Given the description of an element on the screen output the (x, y) to click on. 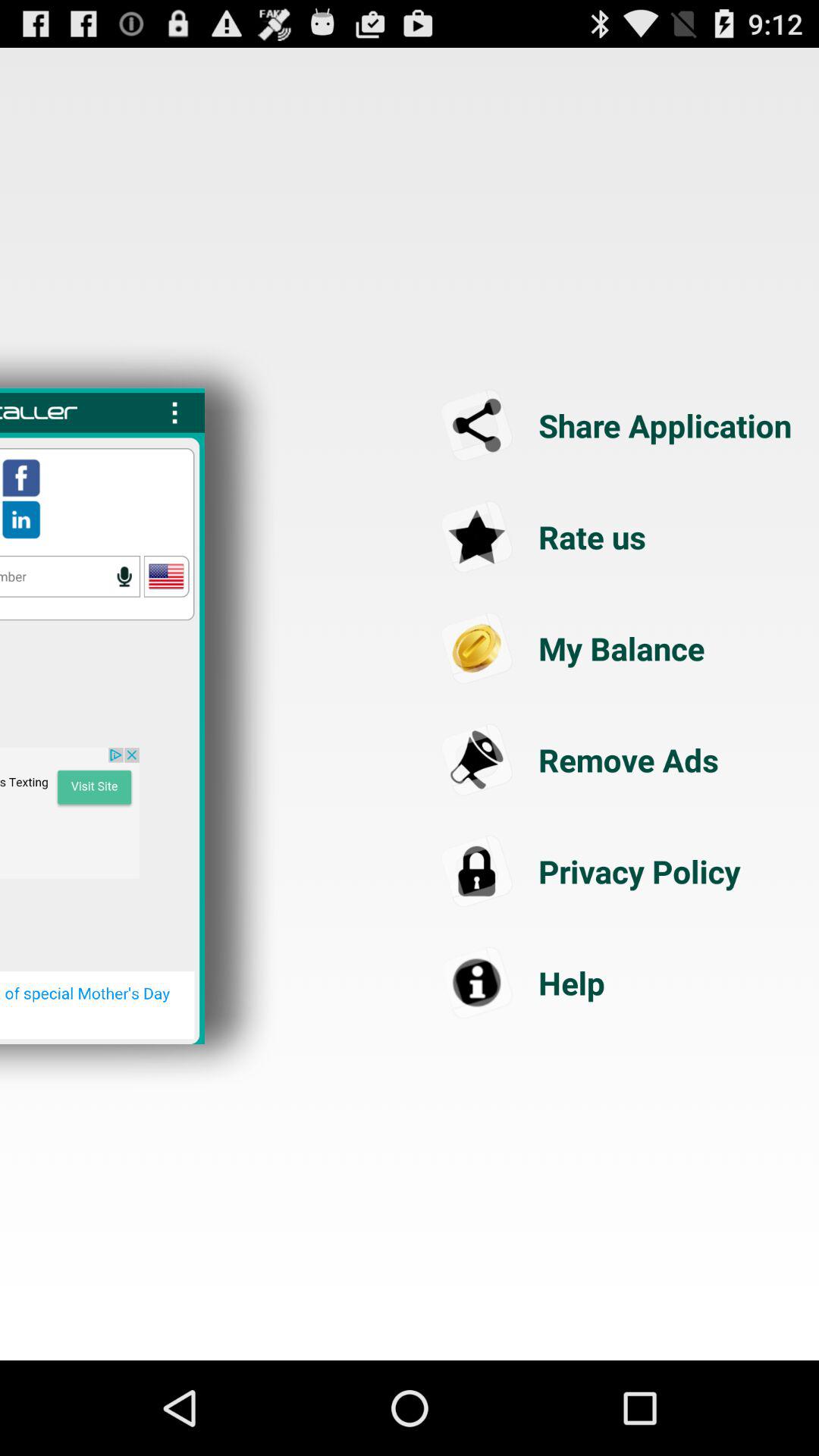
record audio (124, 576)
